Given the description of an element on the screen output the (x, y) to click on. 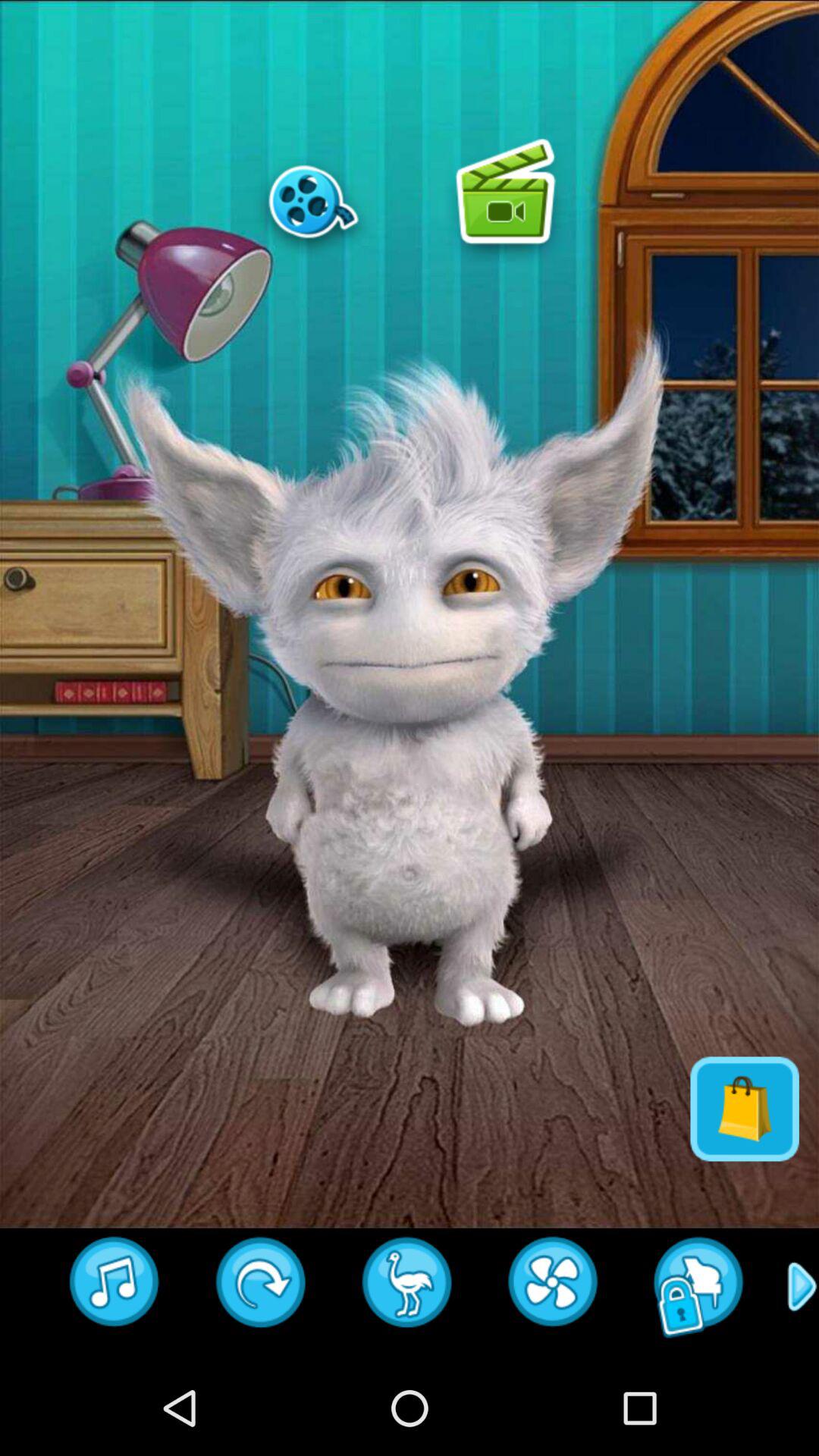
emoji (114, 1287)
